Given the description of an element on the screen output the (x, y) to click on. 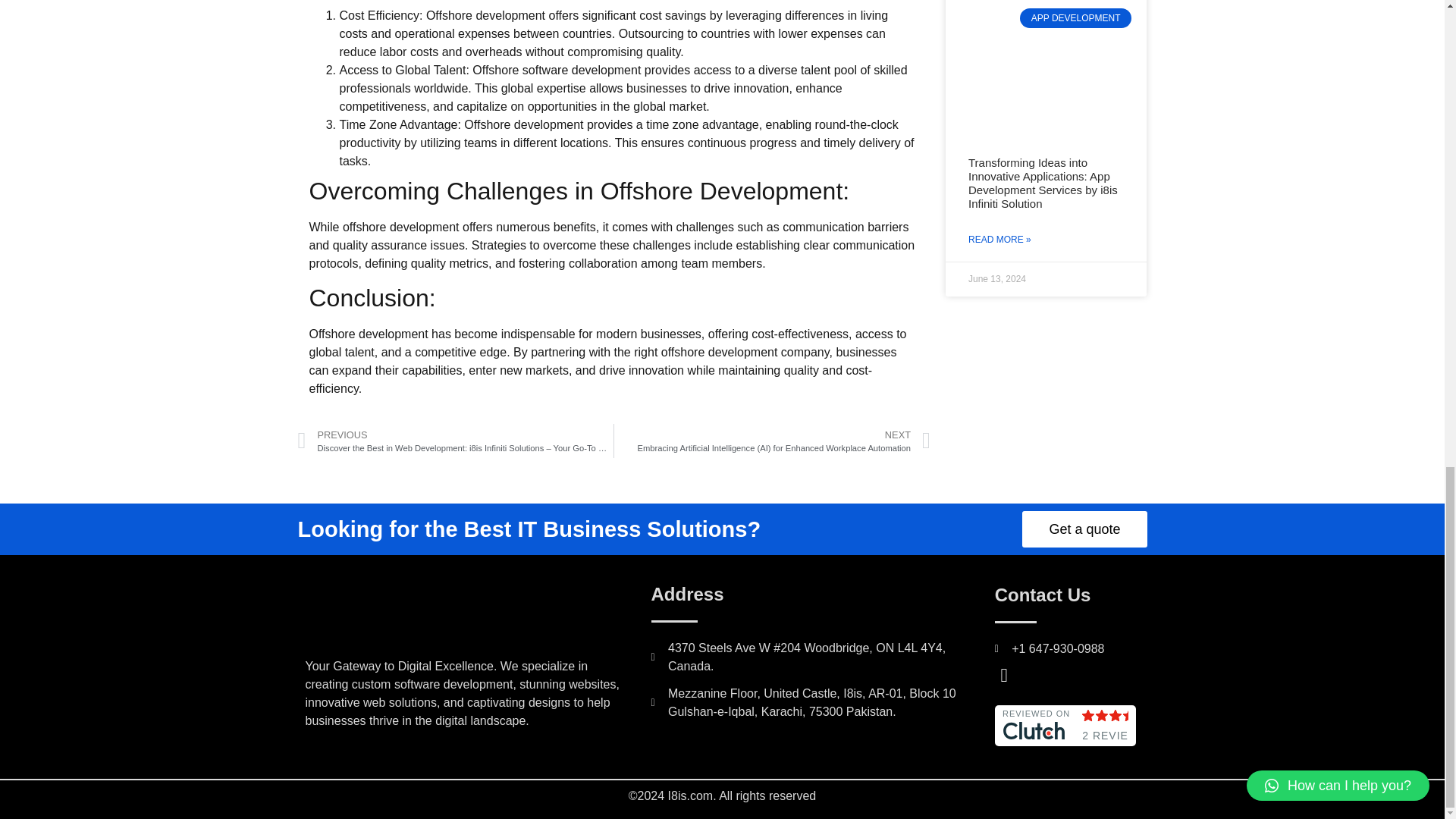
I8IS Company Profile Logo (401, 617)
